Given the description of an element on the screen output the (x, y) to click on. 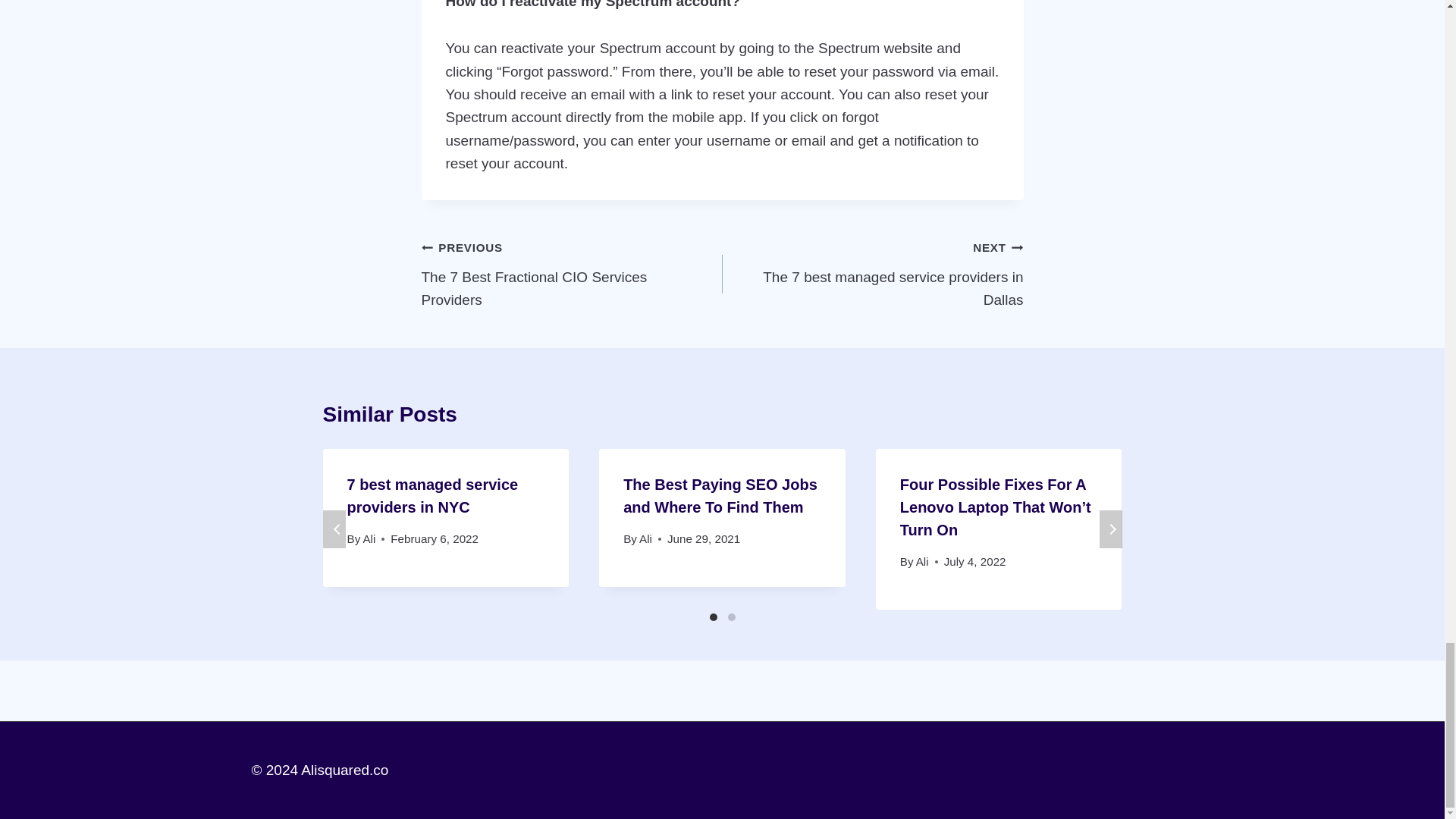
7 best managed service providers in NYC (872, 273)
Ali (432, 495)
The Best Paying SEO Jobs and Where To Find Them (368, 538)
Ali (572, 273)
Ali (719, 495)
